Given the description of an element on the screen output the (x, y) to click on. 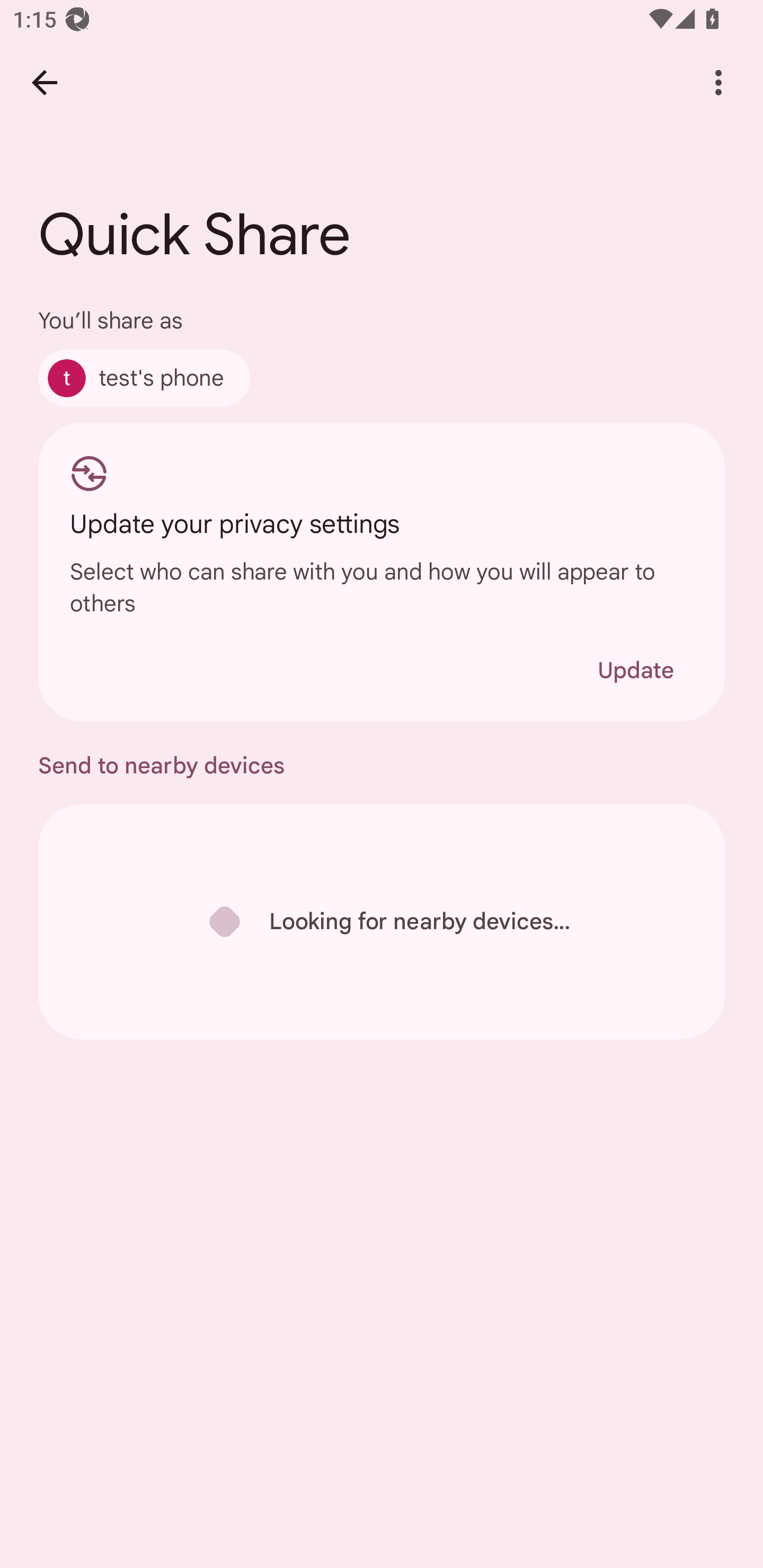
Back (44, 81)
More (718, 81)
test's phone (144, 378)
Update (635, 669)
